Given the description of an element on the screen output the (x, y) to click on. 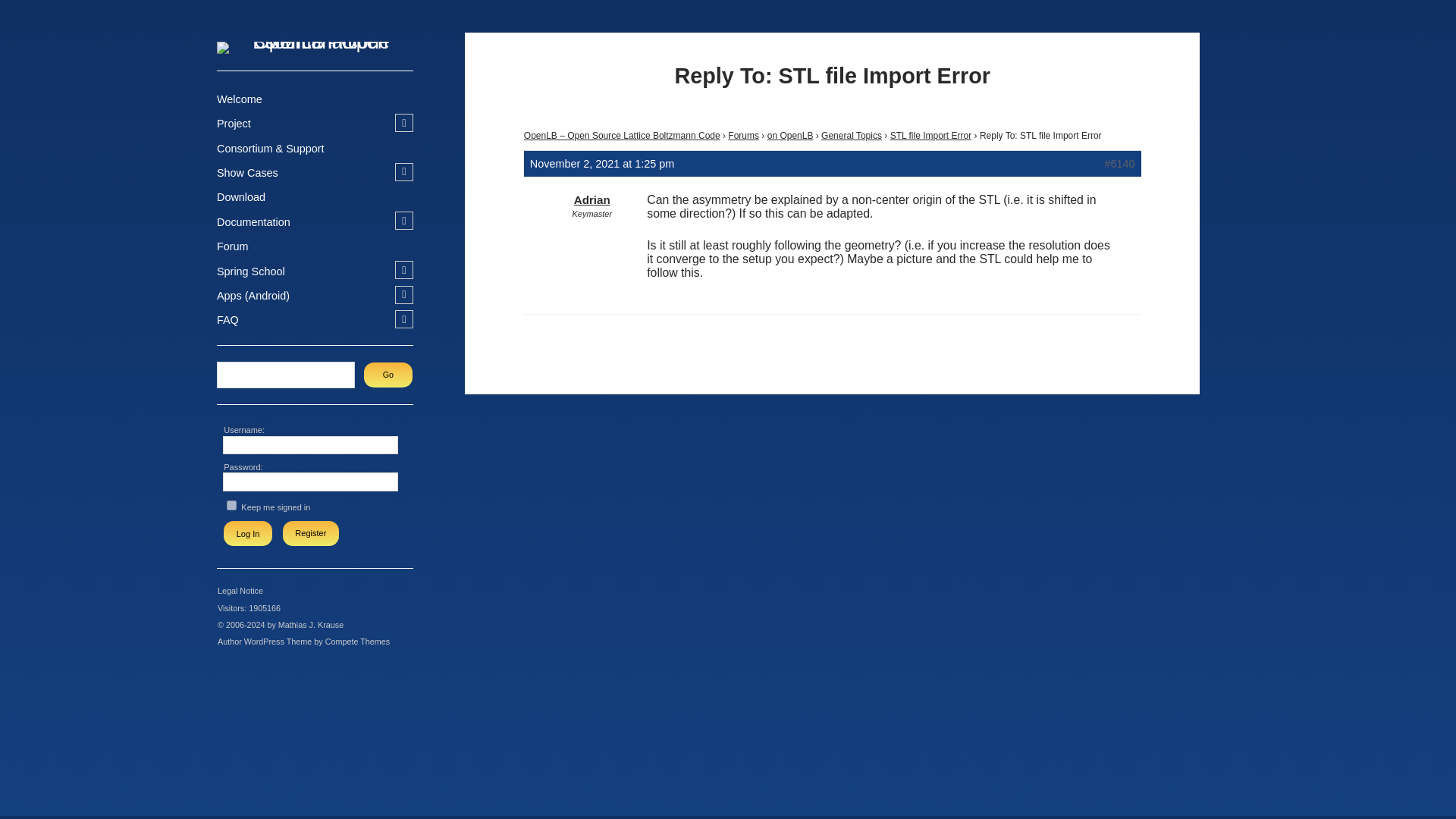
Go (388, 374)
open child menu (403, 122)
forever (231, 505)
Go (388, 374)
Welcome (239, 99)
OpenLB - Open source lattice Boltzmann code (314, 41)
Search for: (284, 374)
open child menu (403, 171)
Register (310, 533)
View Adrian's profile (591, 200)
